Given the description of an element on the screen output the (x, y) to click on. 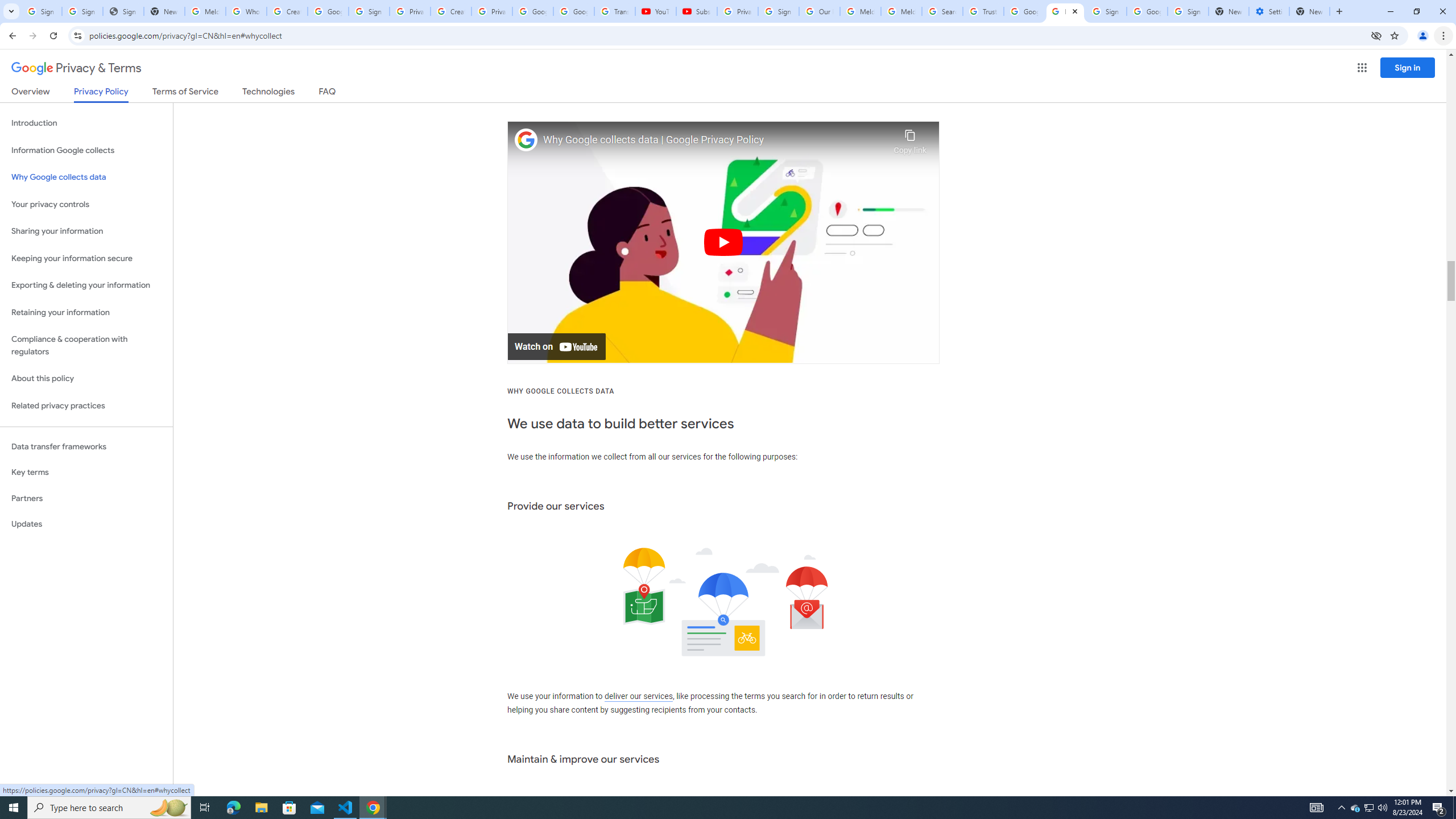
Sign In - USA TODAY (122, 11)
deliver our services (638, 696)
Photo image of Google (526, 139)
Sign in - Google Accounts (81, 11)
Information Google collects (86, 150)
Copy link (909, 139)
Settings - Addresses and more (1268, 11)
